Given the description of an element on the screen output the (x, y) to click on. 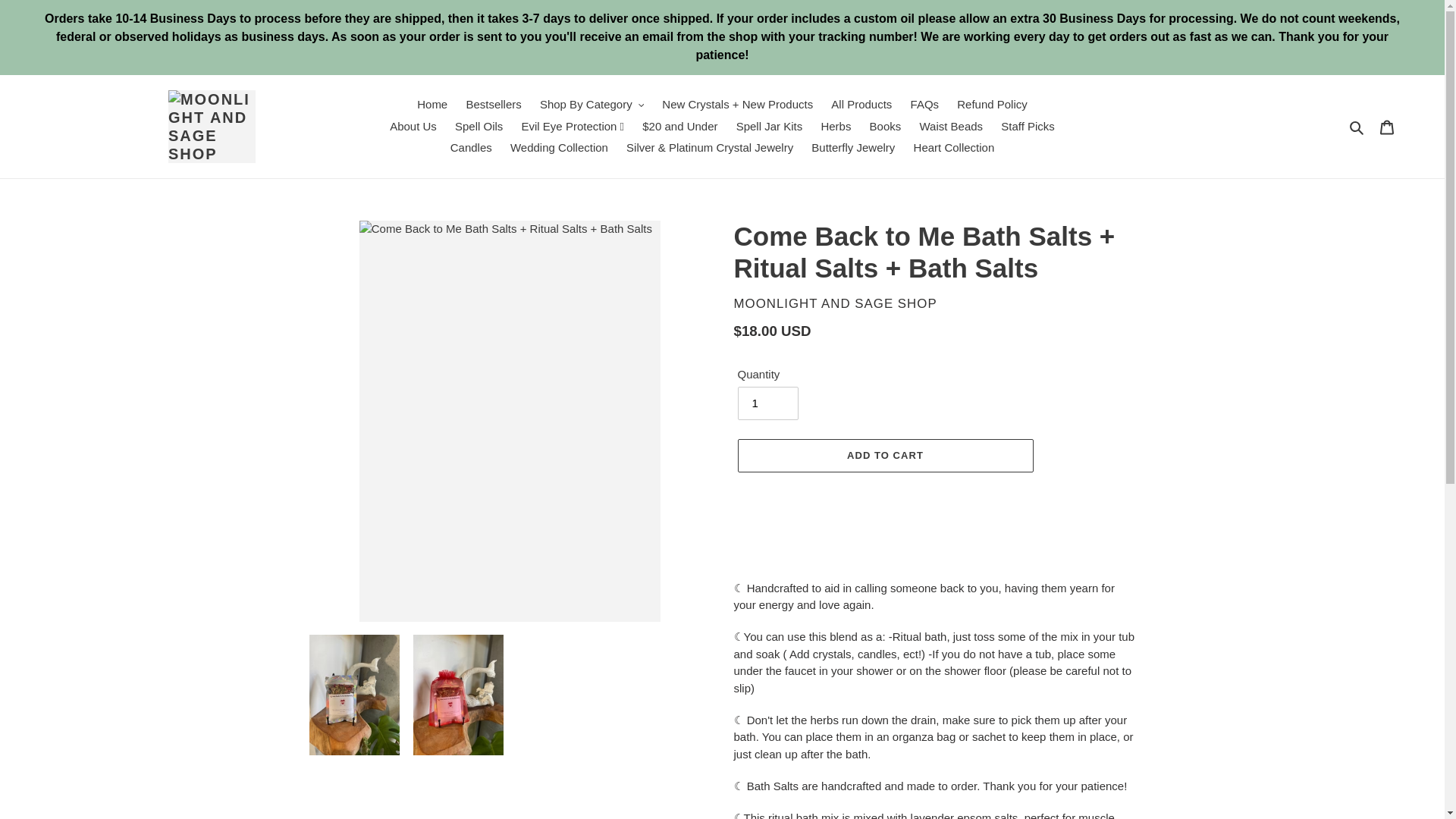
Shop By Category (591, 105)
All Products (861, 105)
Home (431, 105)
Bestsellers (493, 105)
1 (766, 403)
